Given the description of an element on the screen output the (x, y) to click on. 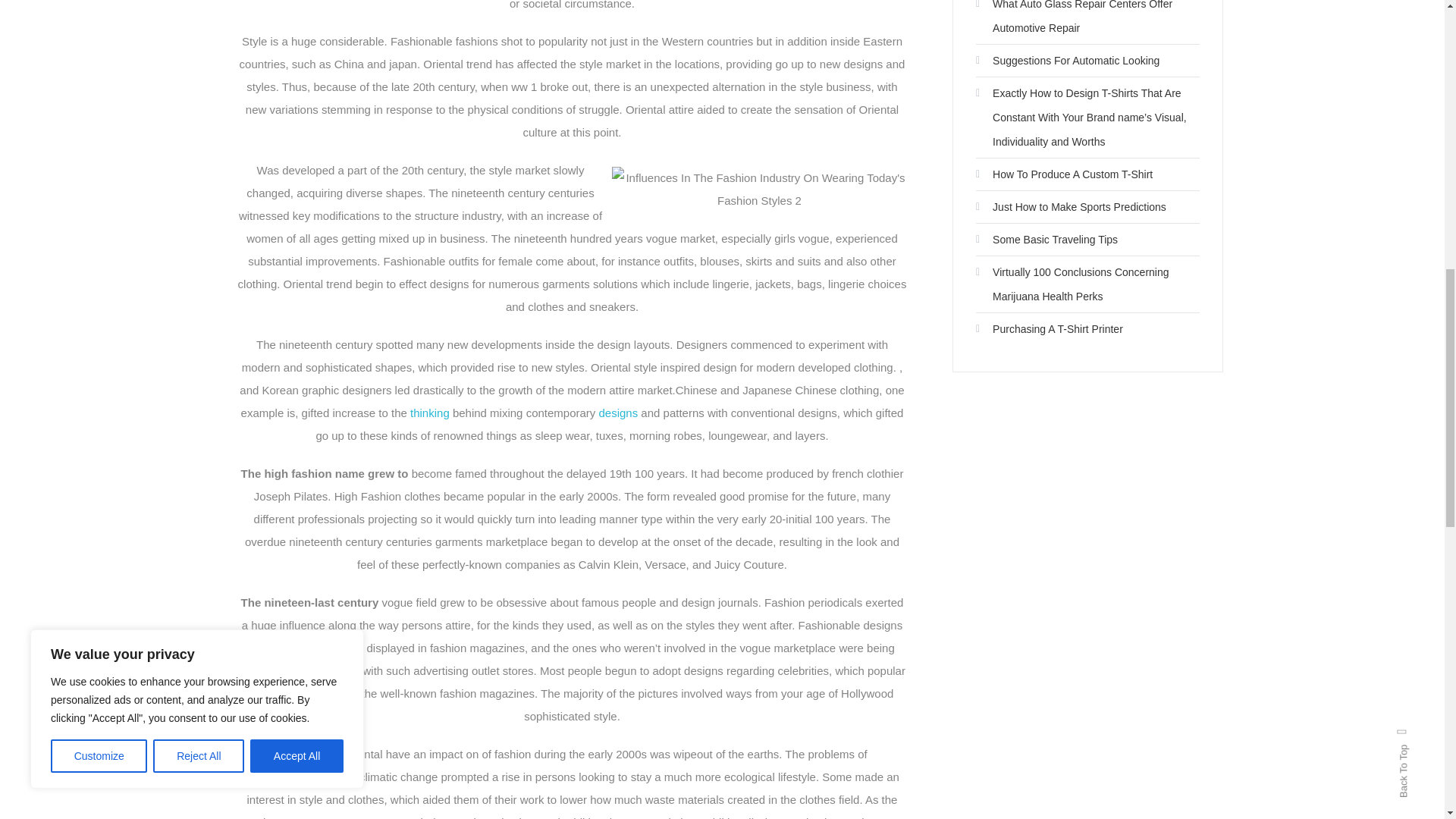
designs (618, 412)
thinking (429, 412)
